Given the description of an element on the screen output the (x, y) to click on. 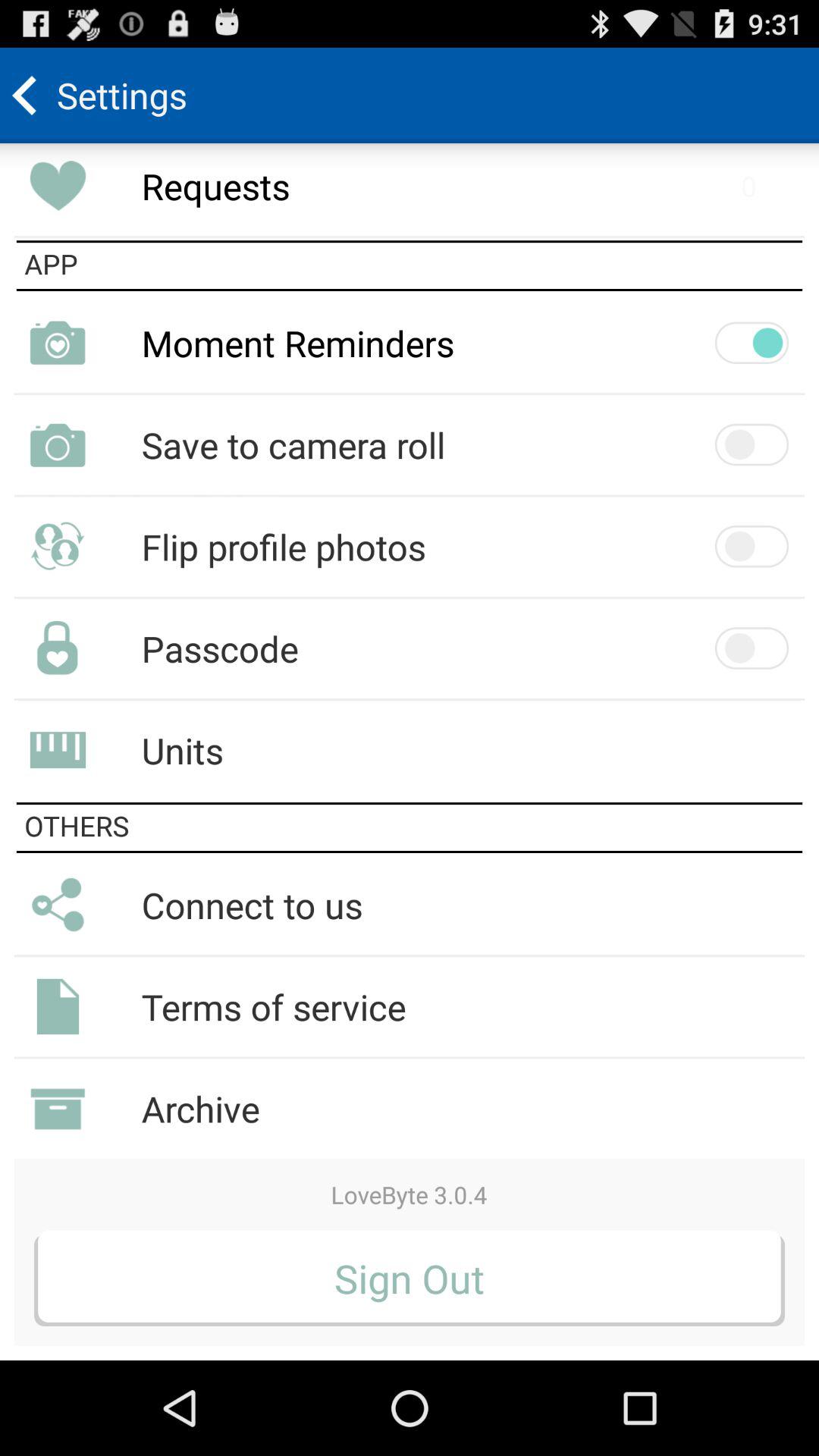
turn off sign out icon (409, 1278)
